Given the description of an element on the screen output the (x, y) to click on. 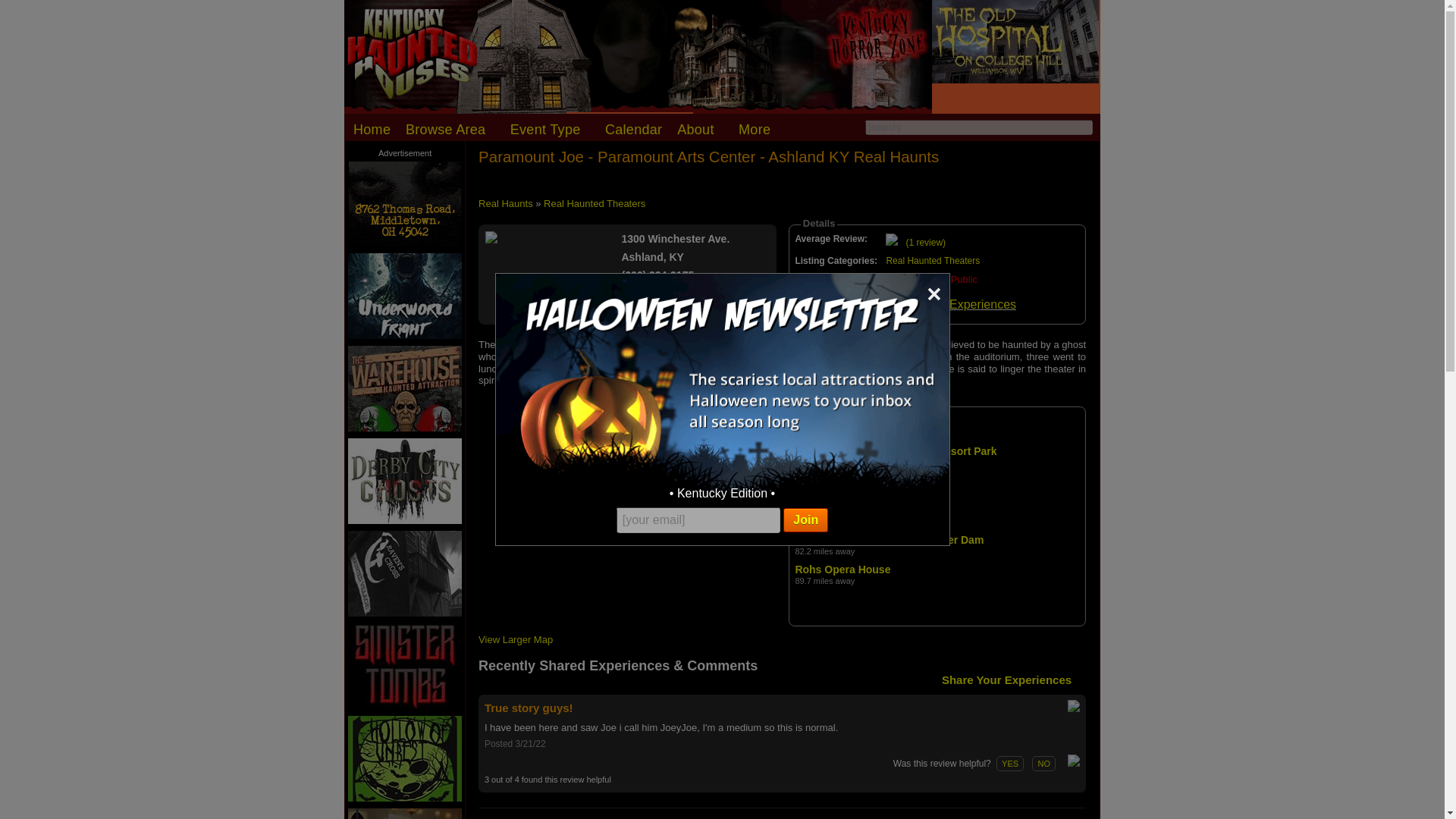
Visit Website (667, 303)
Home (371, 129)
Join (805, 519)
Join (805, 519)
Browse Area (450, 129)
Event Type (550, 129)
